Given the description of an element on the screen output the (x, y) to click on. 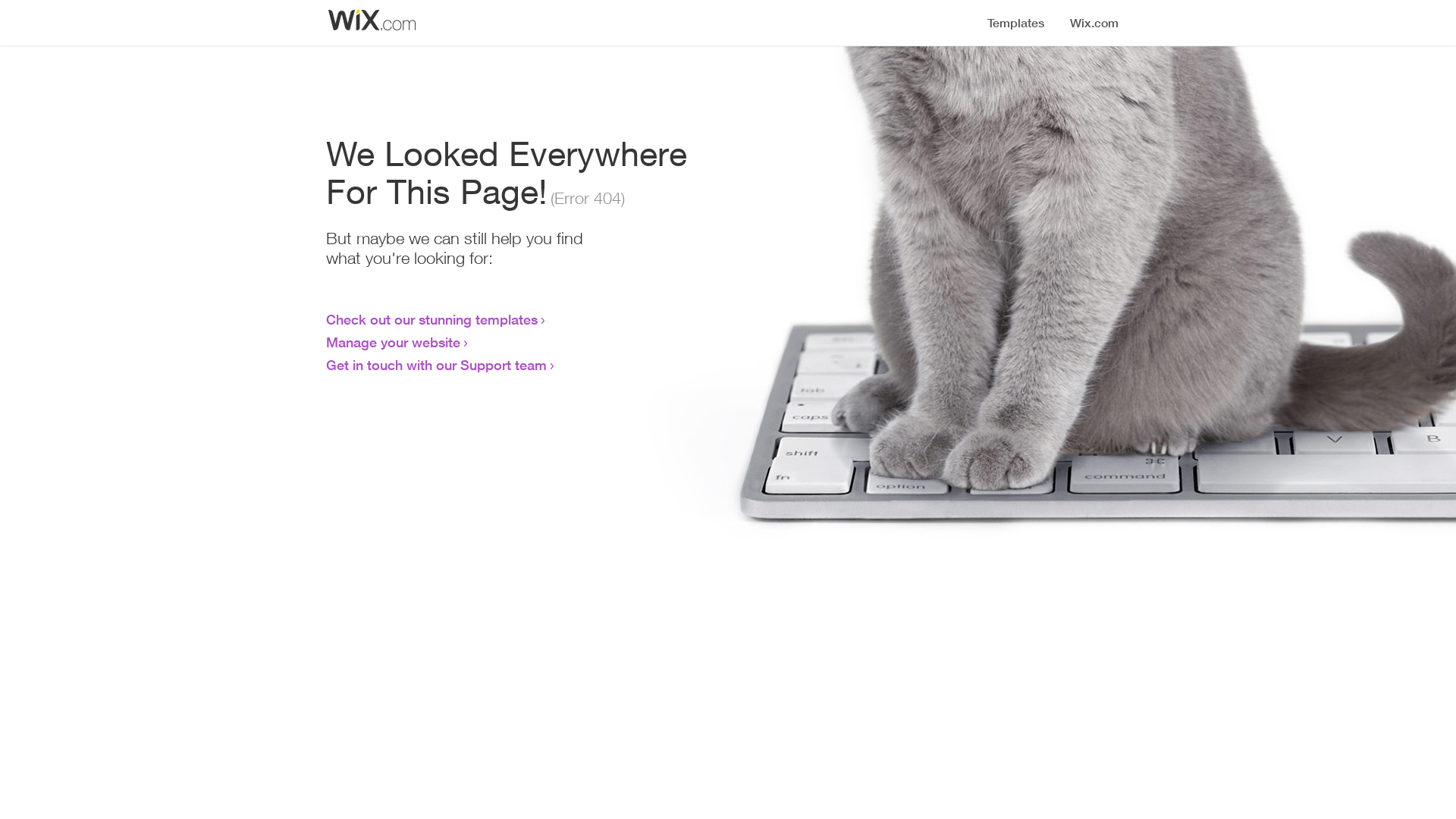
Manage your website Element type: text (393, 341)
Check out our stunning templates Element type: text (431, 318)
Get in touch with our Support team Element type: text (436, 364)
